Given the description of an element on the screen output the (x, y) to click on. 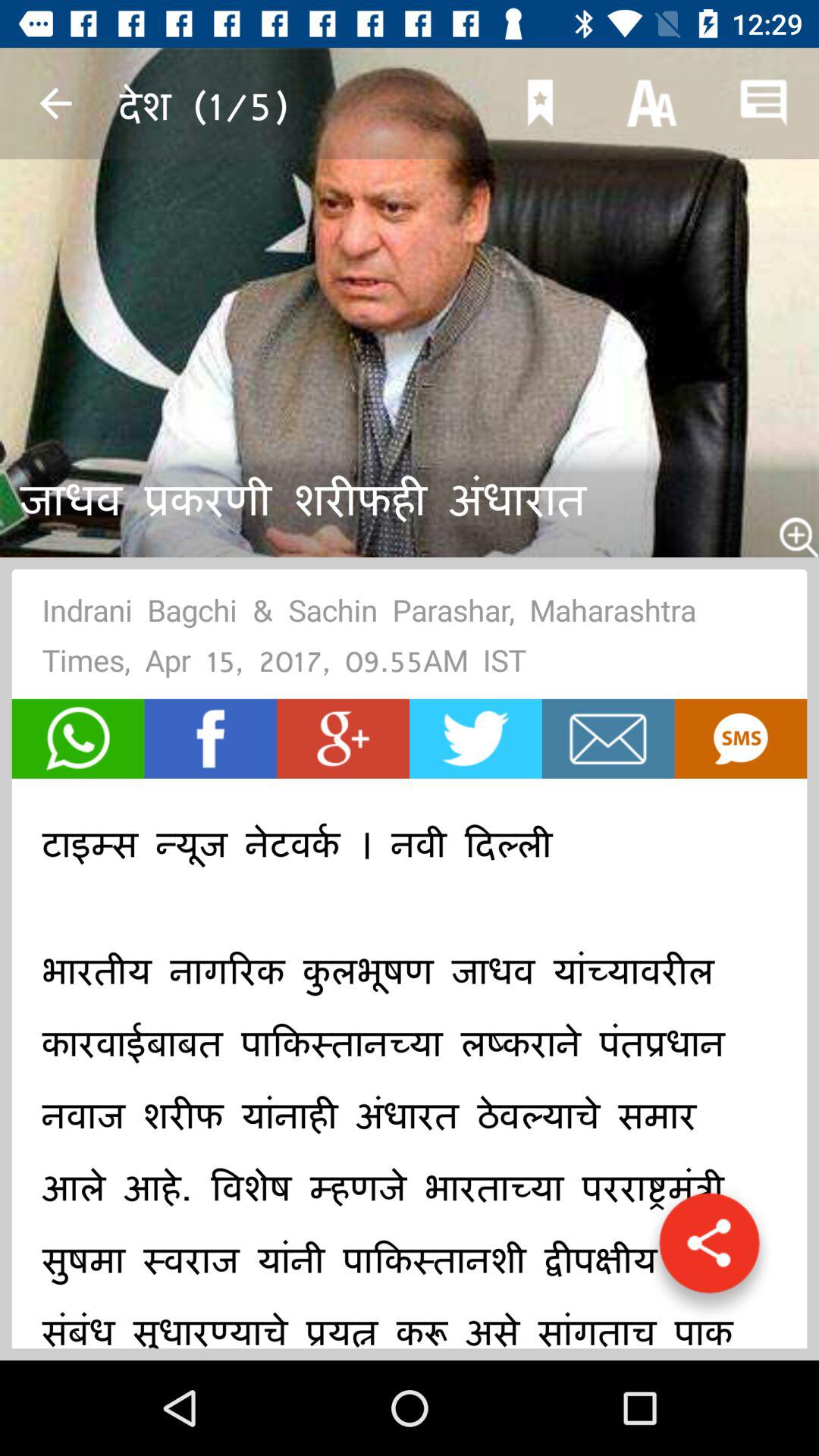
click on twitter handle (475, 738)
